Given the description of an element on the screen output the (x, y) to click on. 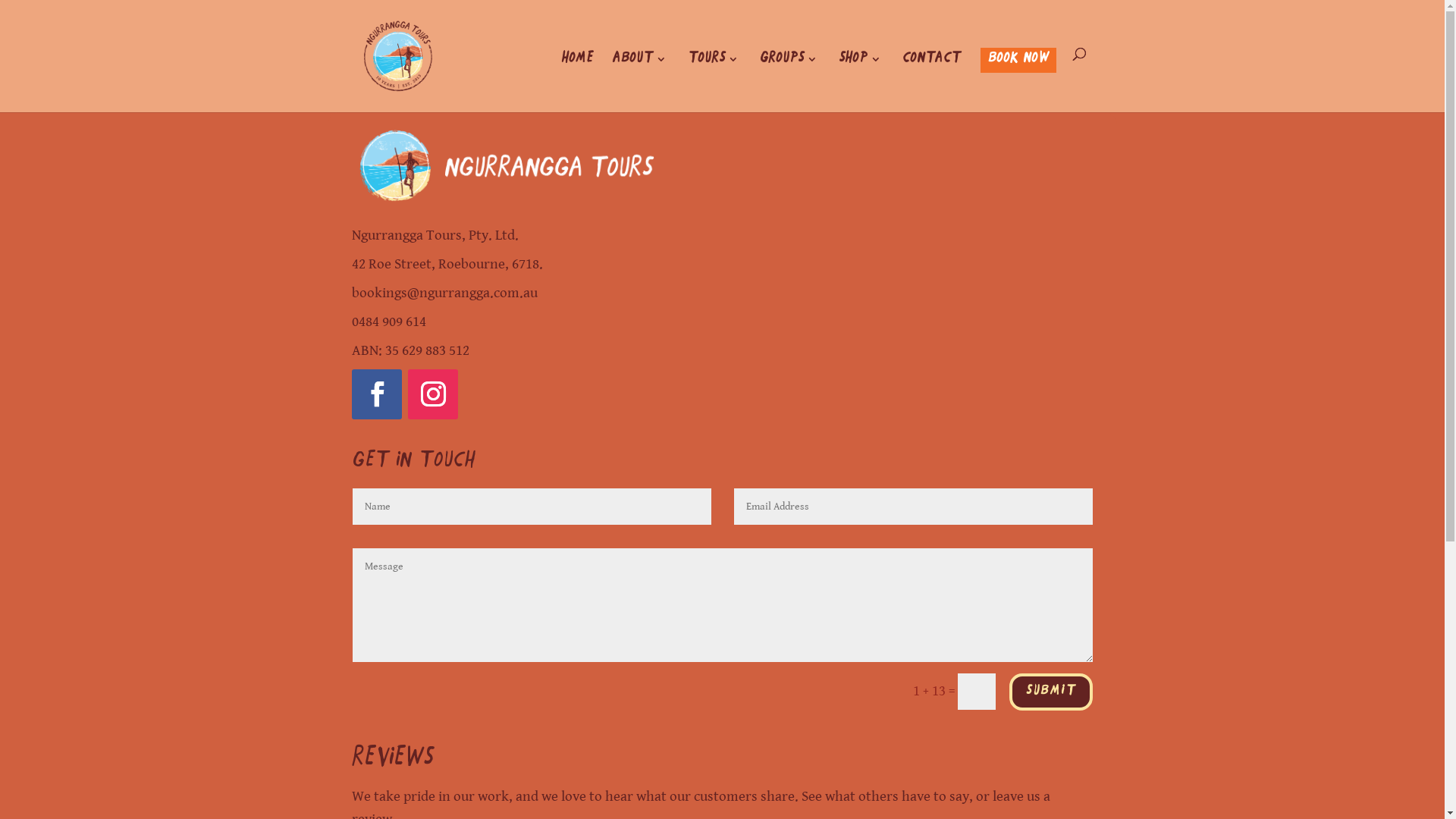
Groups Element type: text (789, 82)
BOOK NOW Element type: text (1017, 82)
submit Element type: text (1050, 691)
Follow on Instagram Element type: hover (432, 394)
Shop Element type: text (860, 82)
HOME Element type: text (577, 82)
CONTACT Element type: text (931, 82)
Tours Element type: text (713, 82)
LOGO-LANDSCAPE-WHITE-TEXT-HIGH-RES-300DPI-01 Element type: hover (506, 165)
Follow on Facebook Element type: hover (376, 394)
About Element type: text (640, 82)
